Given the description of an element on the screen output the (x, y) to click on. 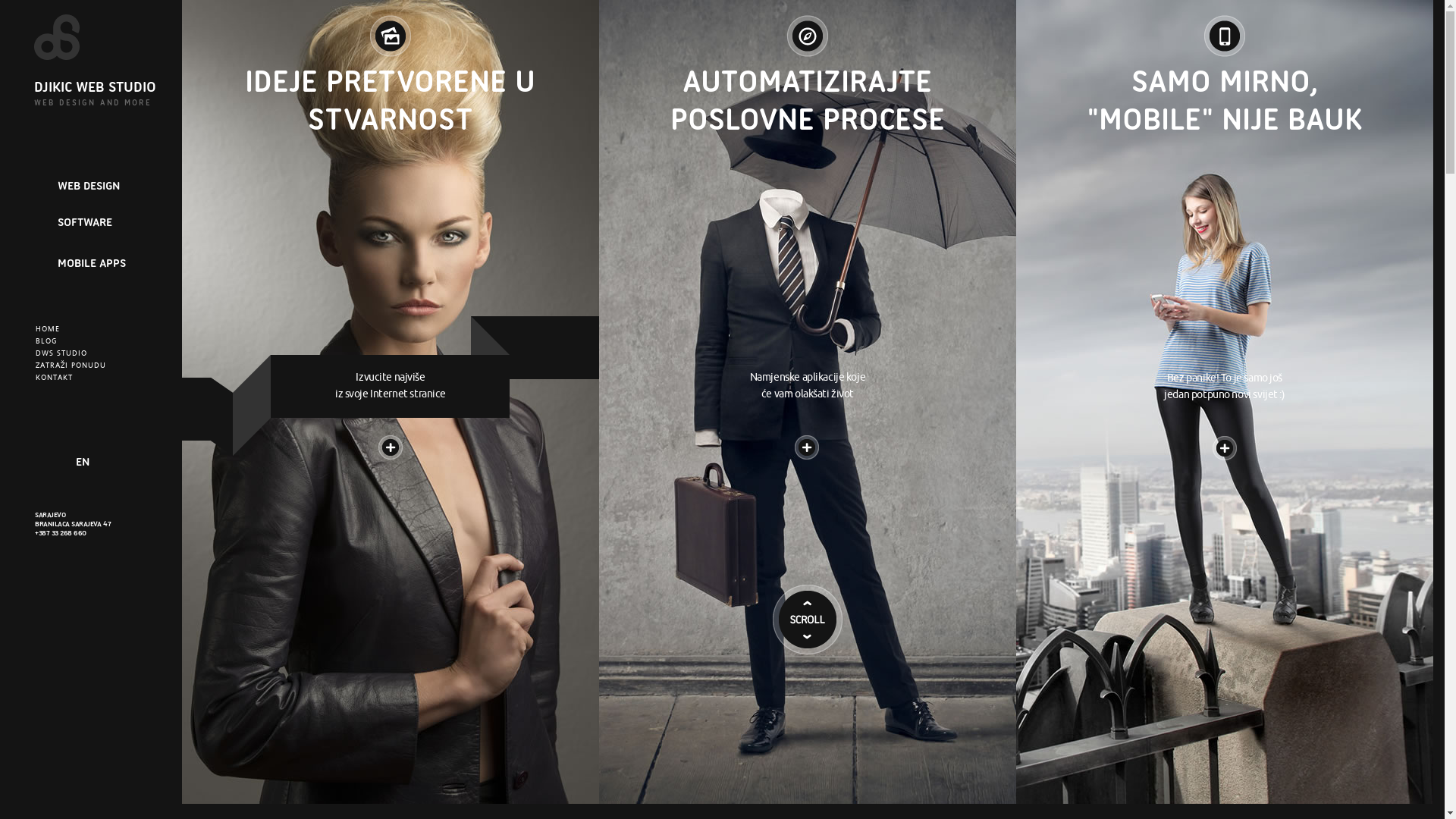
IDEJE PRETVORENE U STVARNOST Element type: text (389, 99)
EN Element type: text (82, 462)
Web design Element type: hover (390, 30)
Djikic Web Studio Element type: hover (71, 36)
MOBILE APPS Element type: text (91, 262)
Mobile apps Element type: hover (1224, 434)
WEB DESIGN Element type: text (88, 185)
Web design Element type: hover (390, 433)
DJIKIC WEB STUDIO Element type: text (95, 86)
AUTOMATIZIRAJTE
POSLOVNE PROCESE Element type: text (807, 99)
WEB DESIGN AND MORE Element type: text (92, 102)
Software Element type: hover (806, 433)
SAMO MIRNO,
"MOBILE" NIJE BAUK Element type: text (1223, 99)
SOFTWARE Element type: text (84, 222)
Like our Facebook page Element type: hover (46, 462)
Software Element type: hover (807, 30)
Mobile apps Element type: hover (1224, 30)
